Given the description of an element on the screen output the (x, y) to click on. 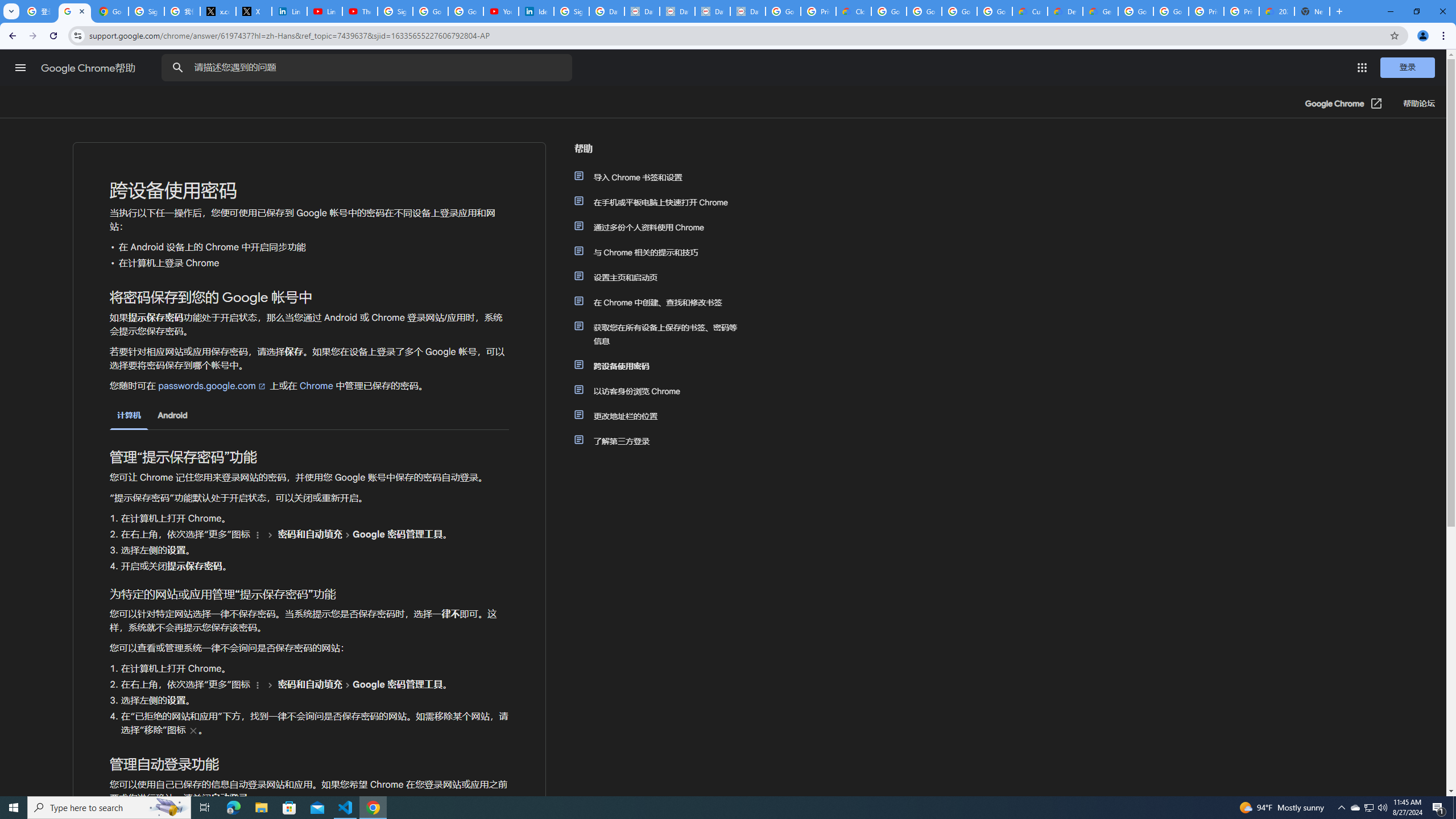
Data Privacy Framework (677, 11)
LinkedIn - YouTube (324, 11)
Google Workspace - Specific Terms (959, 11)
Google Cloud Platform (1135, 11)
